Given the description of an element on the screen output the (x, y) to click on. 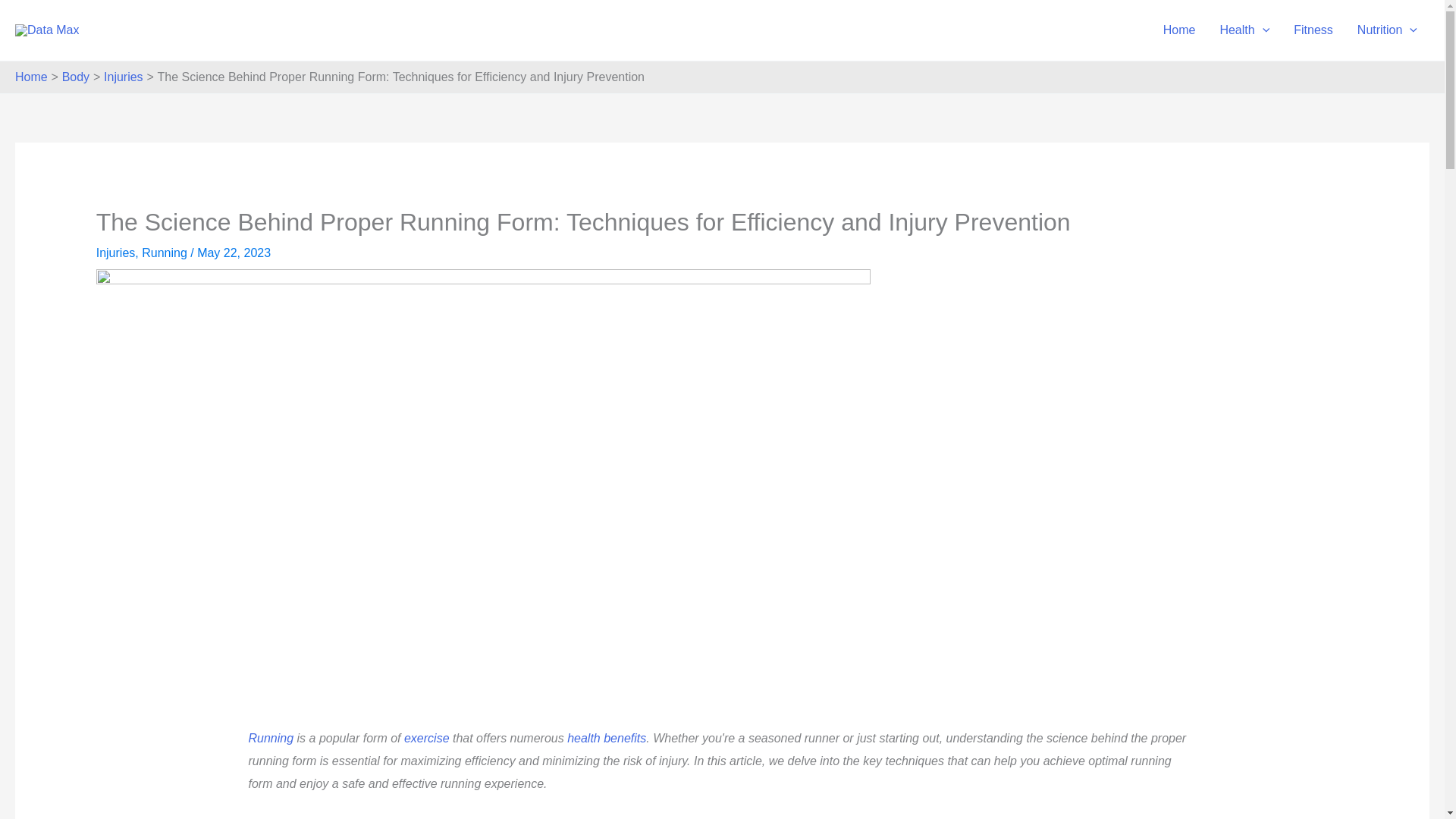
Home (1179, 30)
Nutrition (1387, 30)
Fitness (1313, 30)
Health (1244, 30)
